Given the description of an element on the screen output the (x, y) to click on. 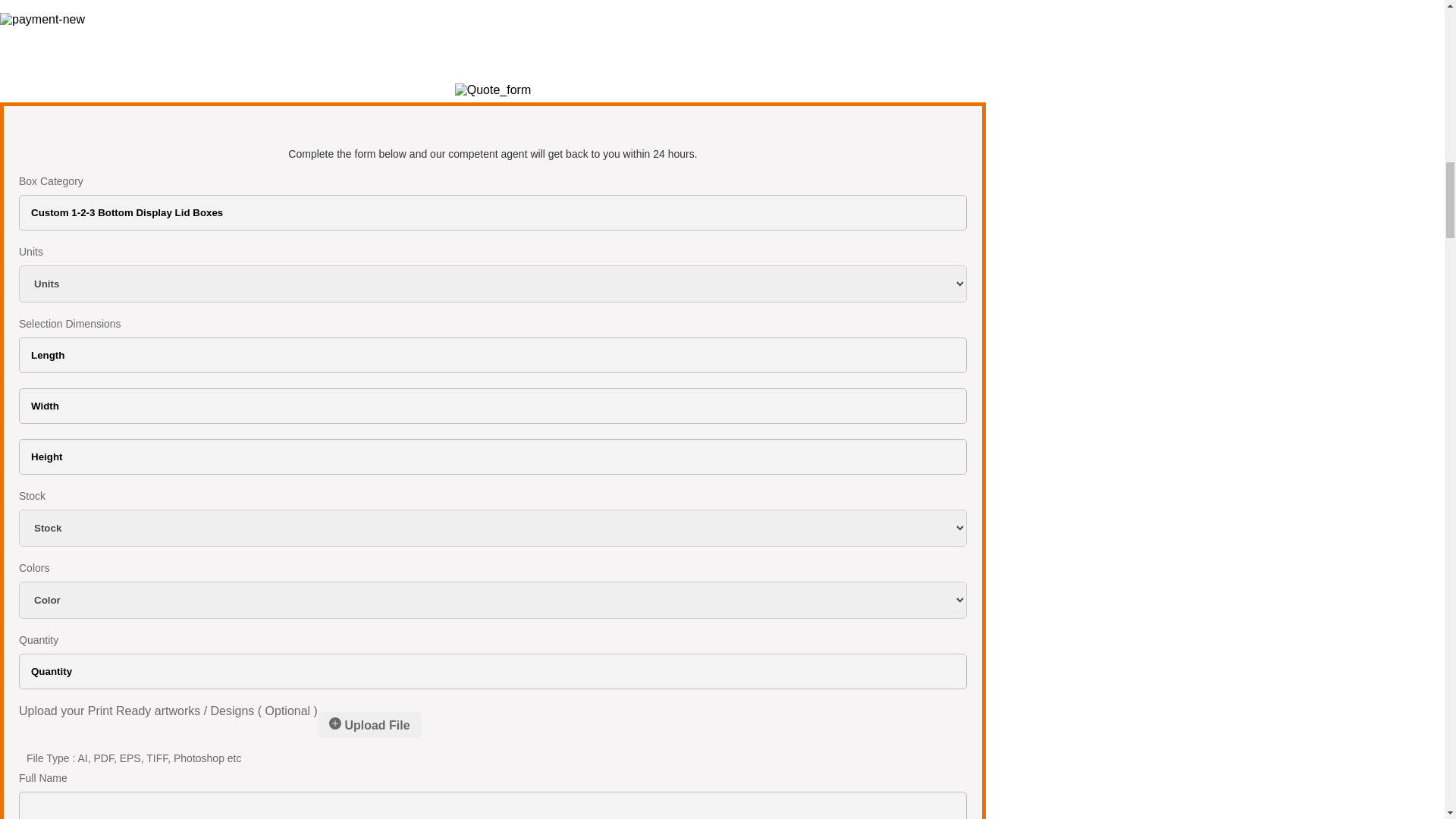
Custom 1-2-3 Bottom Display Lid Boxes (492, 212)
